Given the description of an element on the screen output the (x, y) to click on. 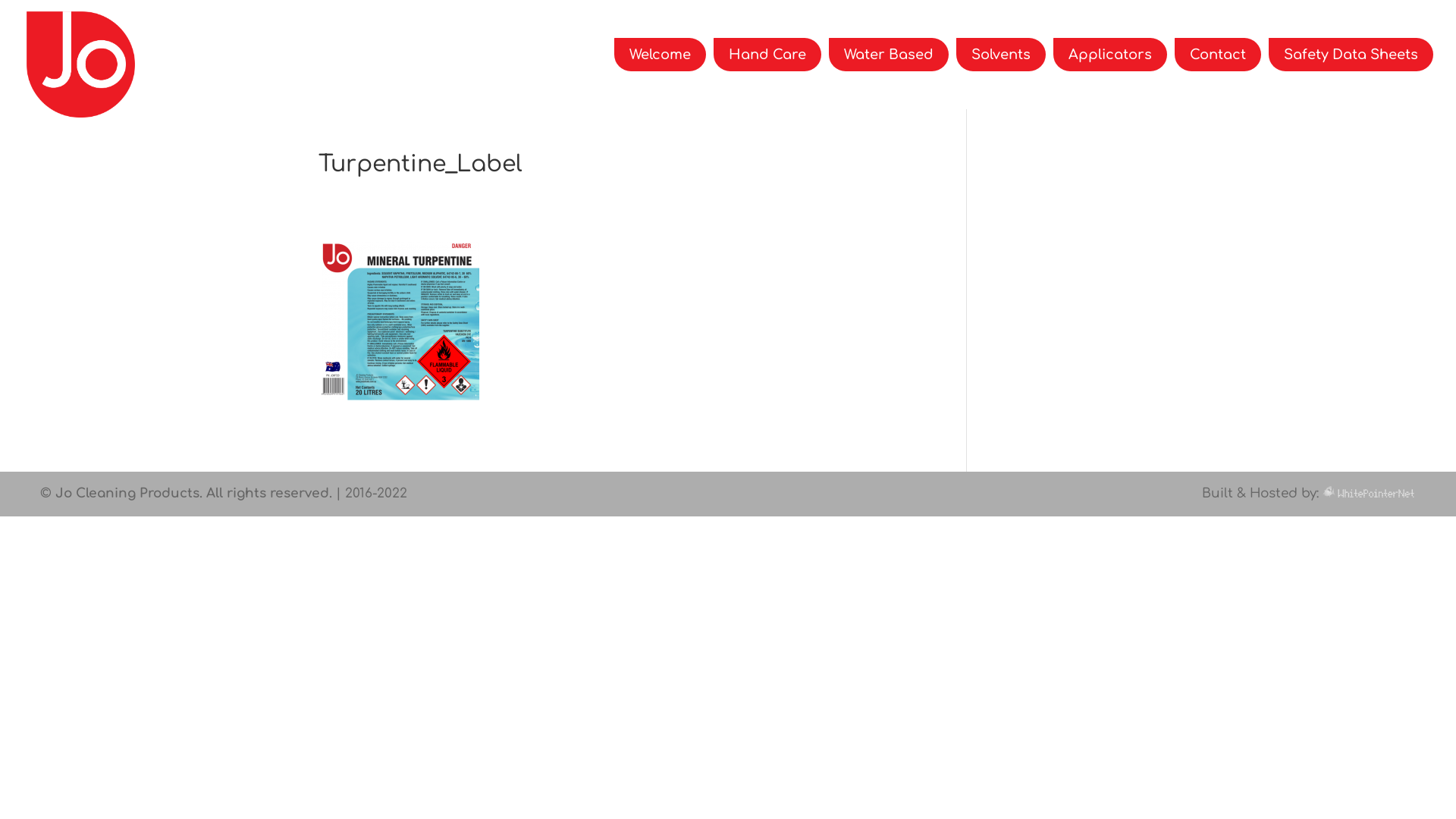
Welcome Element type: text (660, 54)
Contact Element type: text (1217, 54)
Jo Cleaning Products. All rights reserved. Element type: text (193, 493)
Water Based Element type: text (888, 54)
Hand Care Element type: text (767, 54)
Applicators Element type: text (1110, 54)
Solvents Element type: text (1000, 54)
Safety Data Sheets Element type: text (1350, 54)
